Given the description of an element on the screen output the (x, y) to click on. 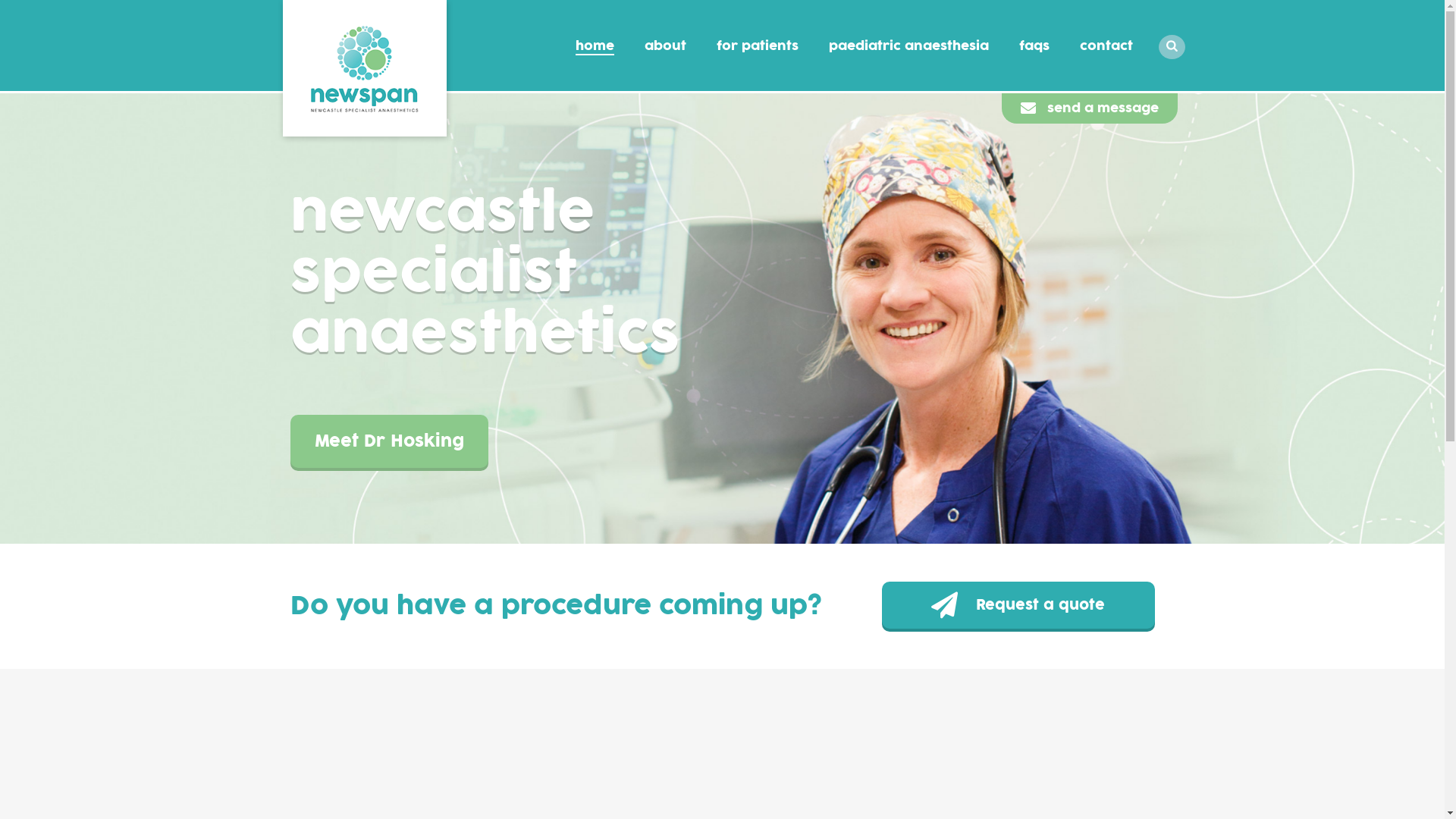
about Element type: text (665, 46)
paediatric anaesthesia Element type: text (908, 46)
faqs Element type: text (1034, 46)
send a message Element type: text (1088, 108)
home Element type: text (594, 46)
Meet Dr Hosking Element type: text (388, 440)
for patients Element type: text (757, 46)
contact Element type: text (1106, 46)
Request a quote Element type: text (1017, 604)
